Given the description of an element on the screen output the (x, y) to click on. 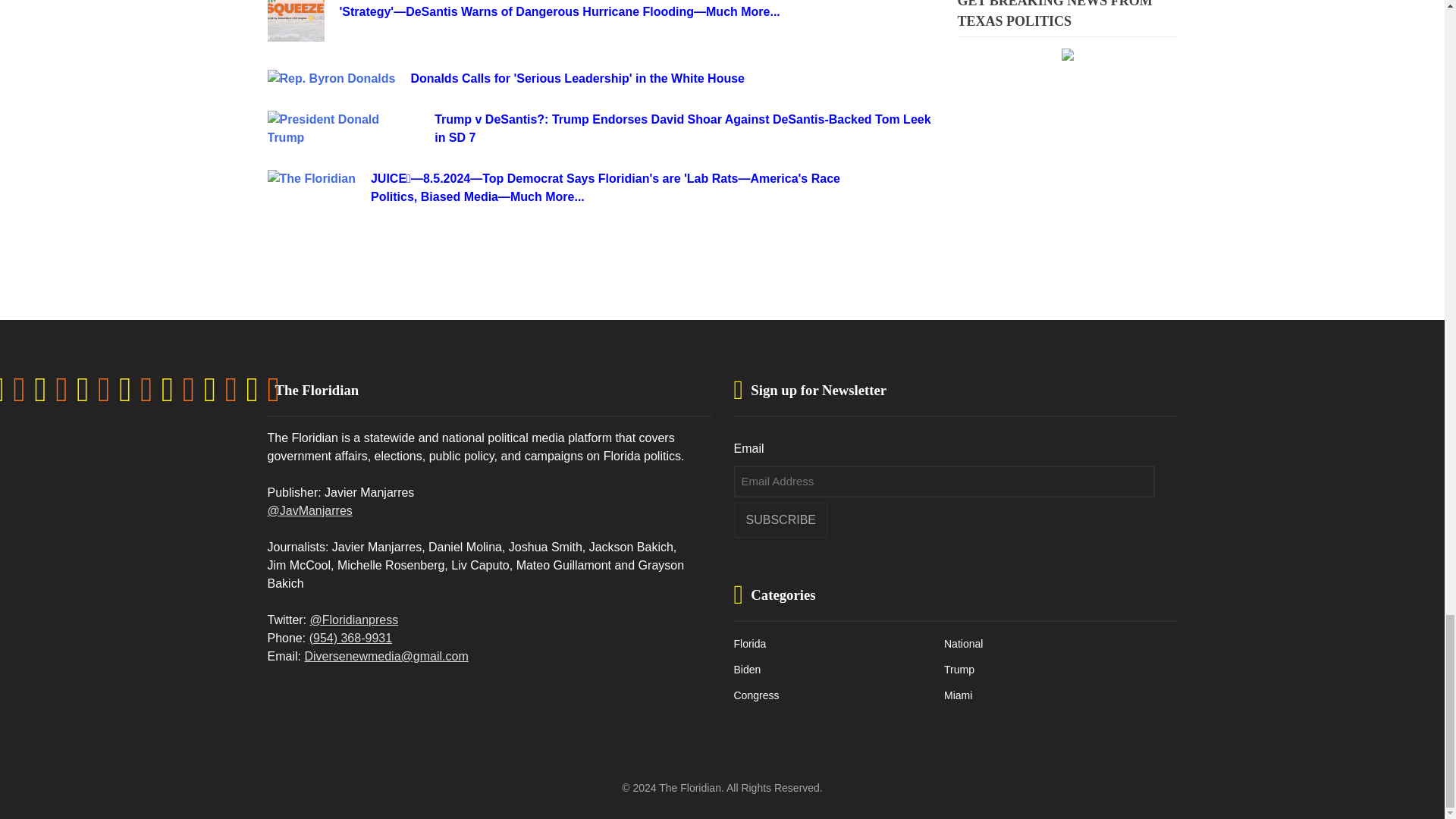
SUBSCRIBE (780, 520)
